Given the description of an element on the screen output the (x, y) to click on. 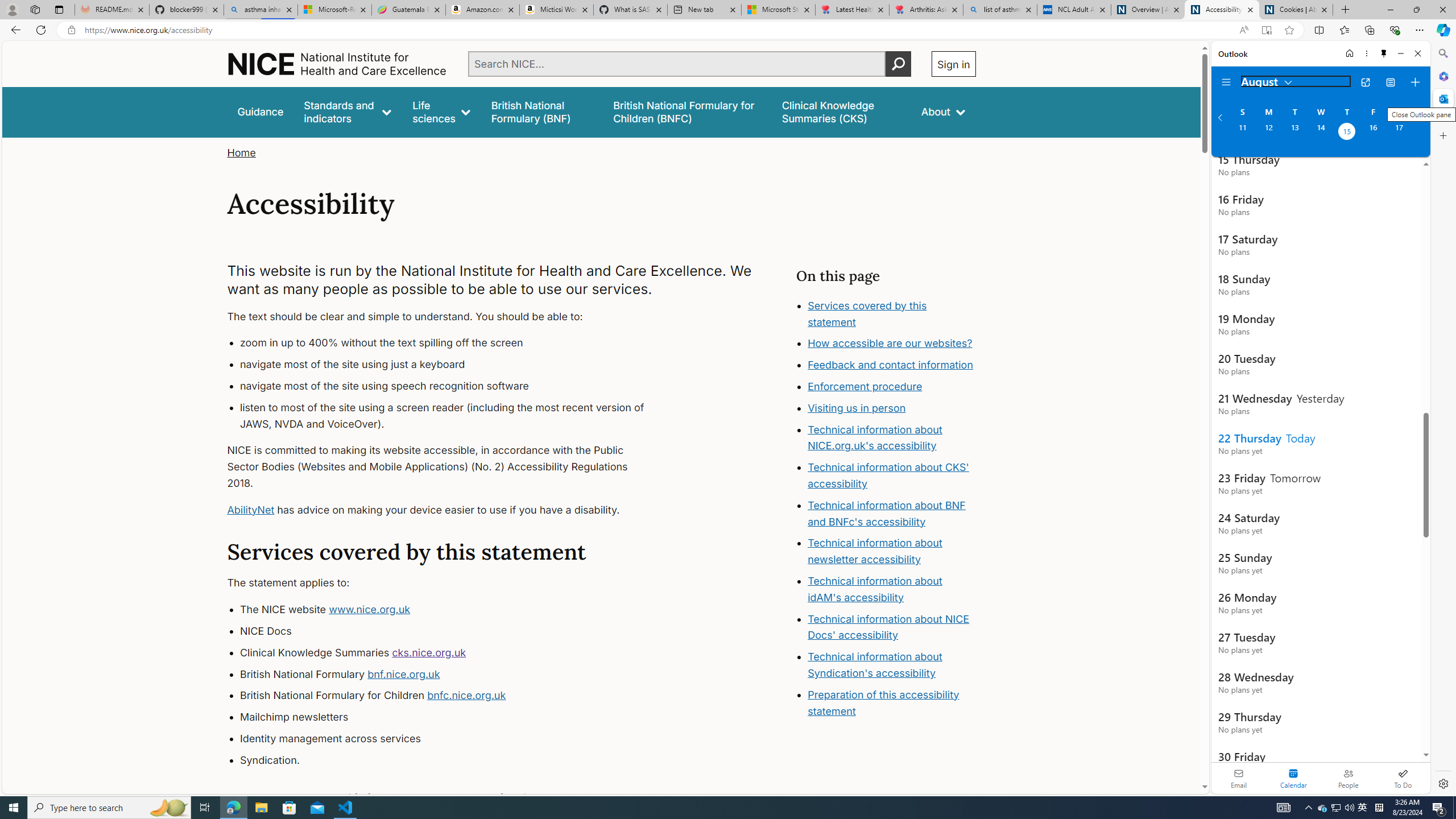
zoom in up to 400% without the text spilling off the screen (452, 343)
About (942, 111)
cks.nice.org.uk (428, 652)
Perform search (898, 63)
Syndication. (452, 760)
Create event (1414, 82)
Feedback and contact information (891, 364)
The NICE website www.nice.org.uk (452, 609)
Tuesday, August 13, 2024.  (1294, 132)
